Given the description of an element on the screen output the (x, y) to click on. 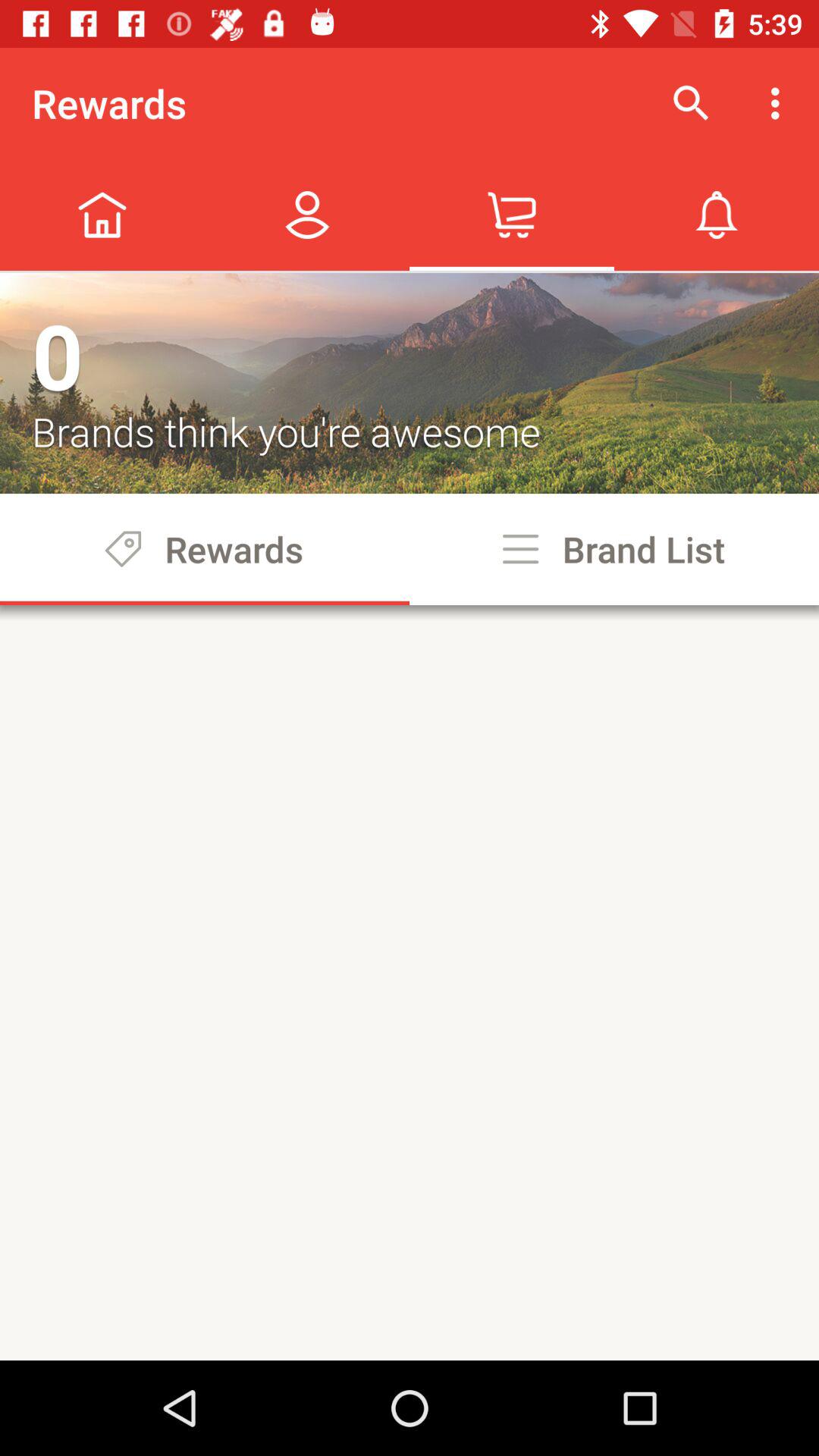
tap icon next to rewards item (691, 103)
